Given the description of an element on the screen output the (x, y) to click on. 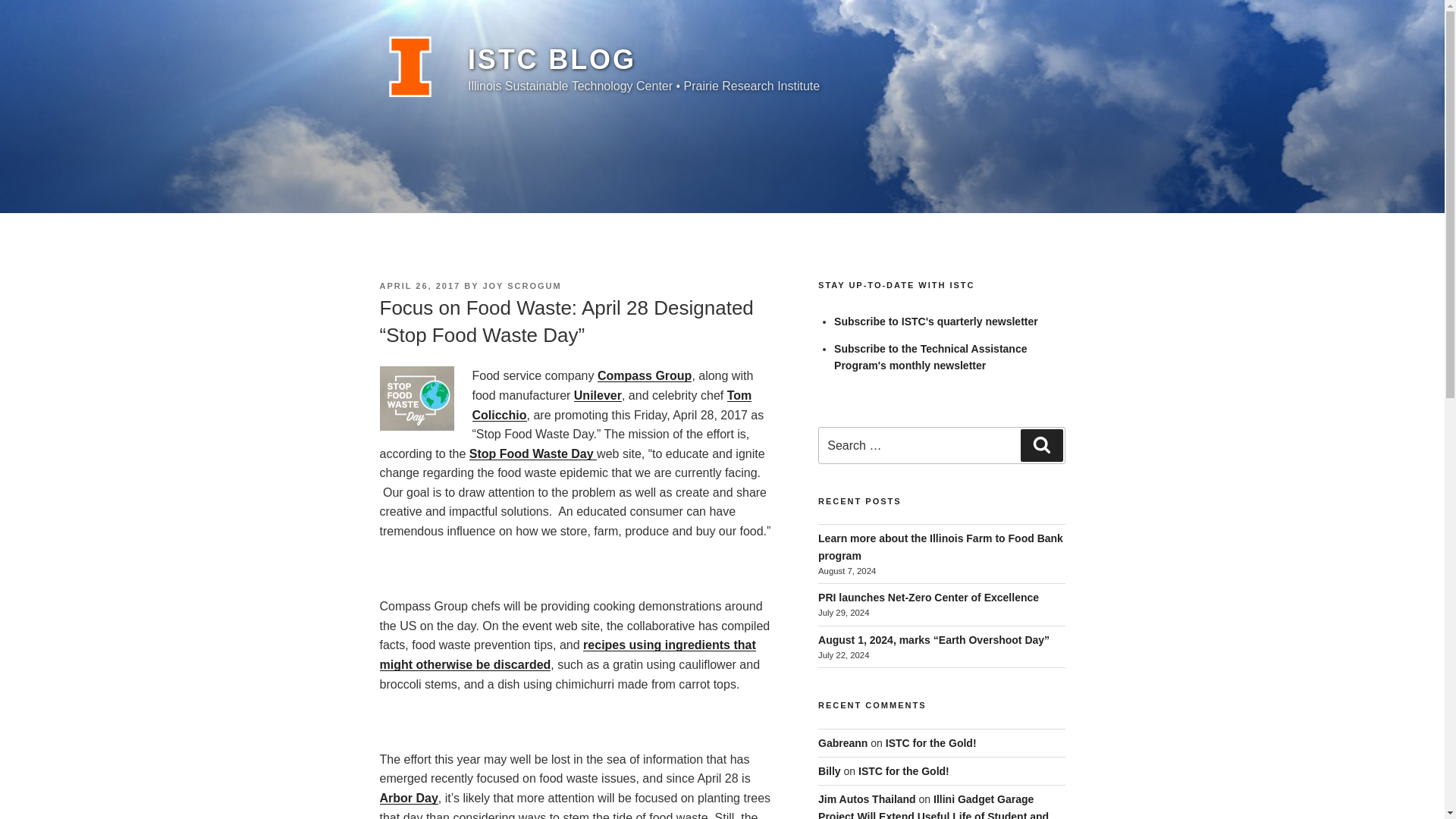
Gabreann (842, 743)
Unilever (597, 395)
ISTC for the Gold! (930, 743)
APRIL 26, 2017 (419, 285)
ISTC for the Gold! (904, 770)
Billy (829, 770)
Compass Group (643, 375)
Subscribe to ISTC's quarterly newsletter (936, 321)
